Given the description of an element on the screen output the (x, y) to click on. 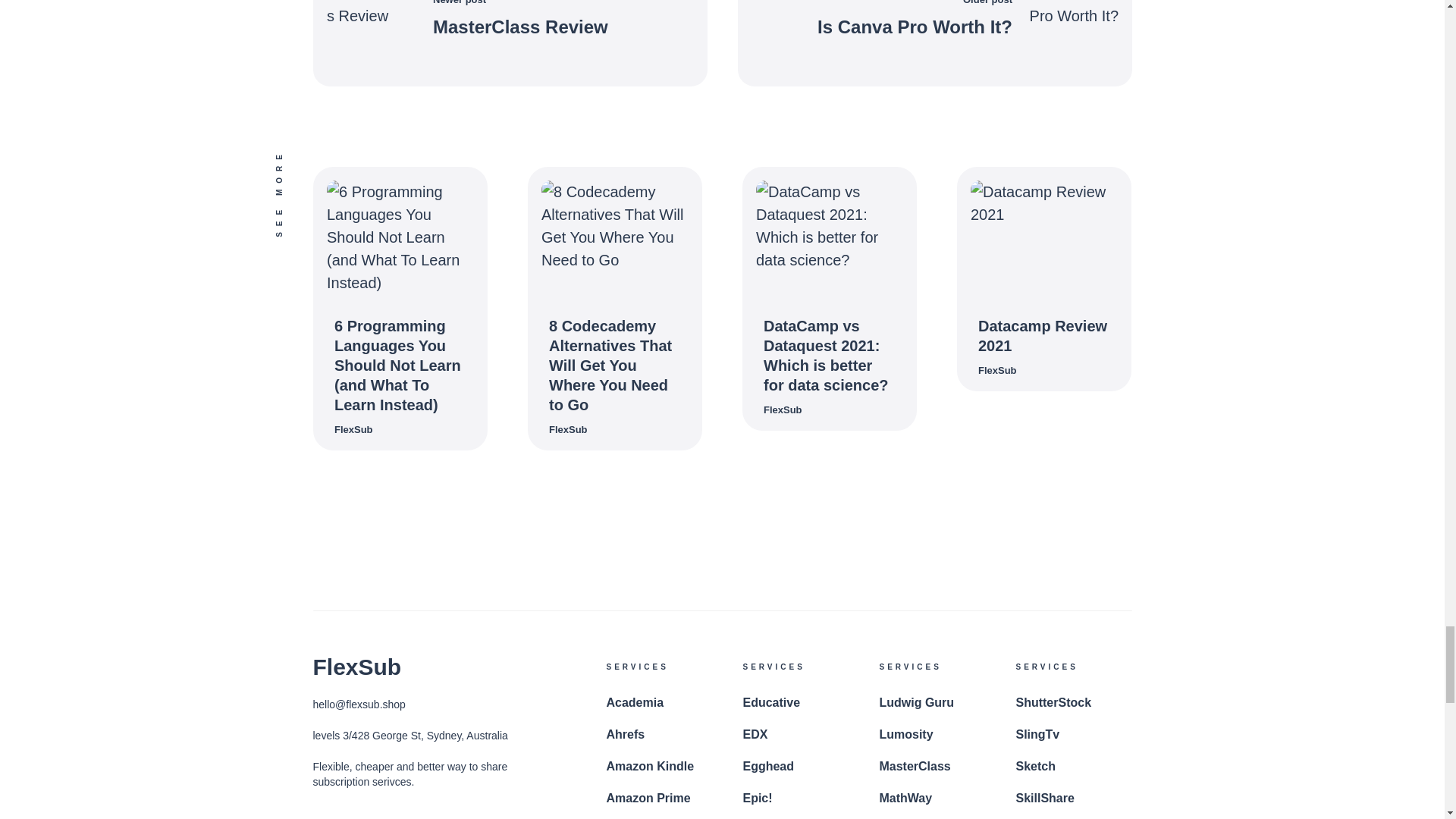
MasterClass Review (519, 25)
Is Canva Pro Worth It? (913, 25)
